Given the description of an element on the screen output the (x, y) to click on. 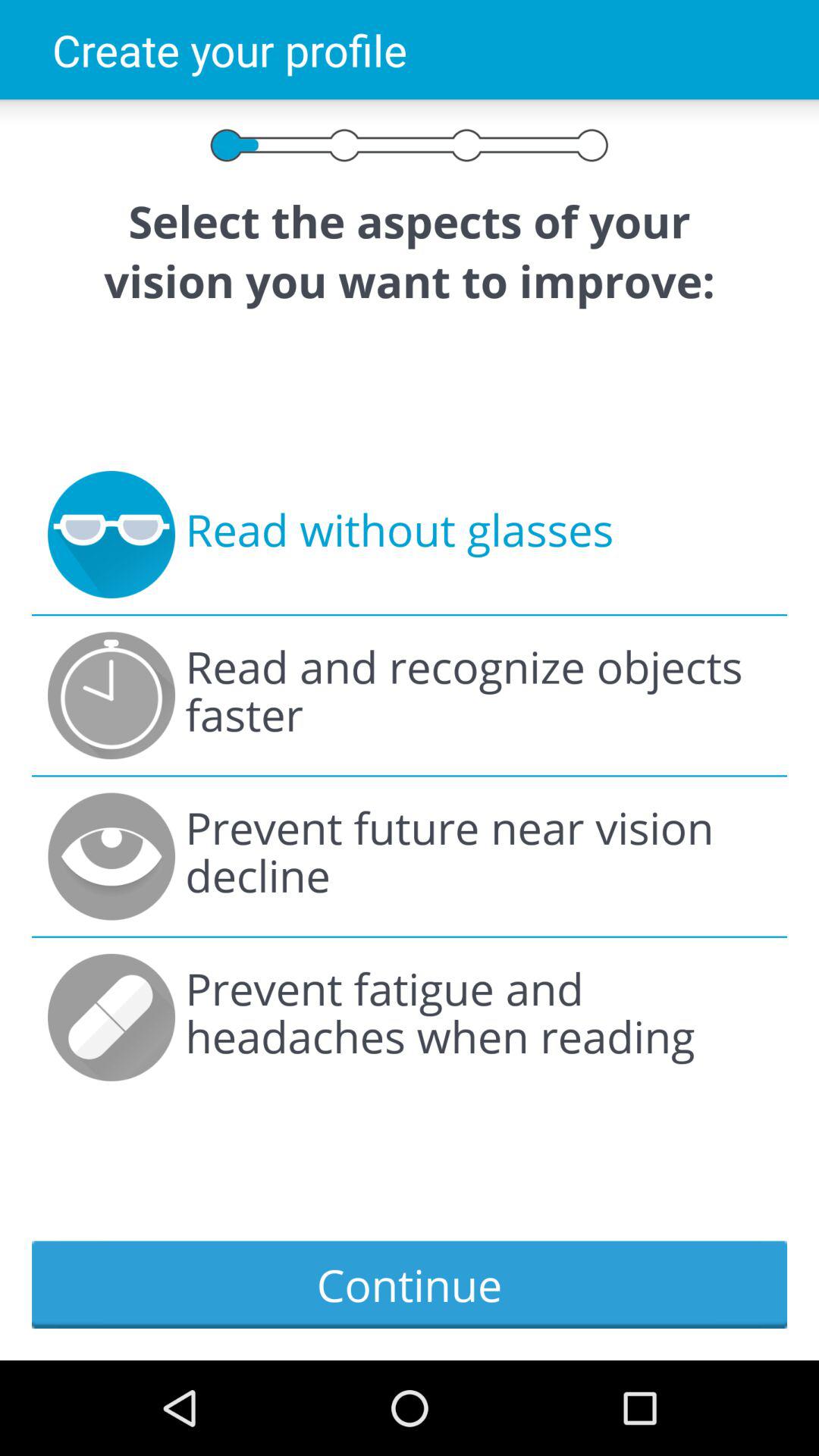
jump until prevent future near (478, 856)
